Given the description of an element on the screen output the (x, y) to click on. 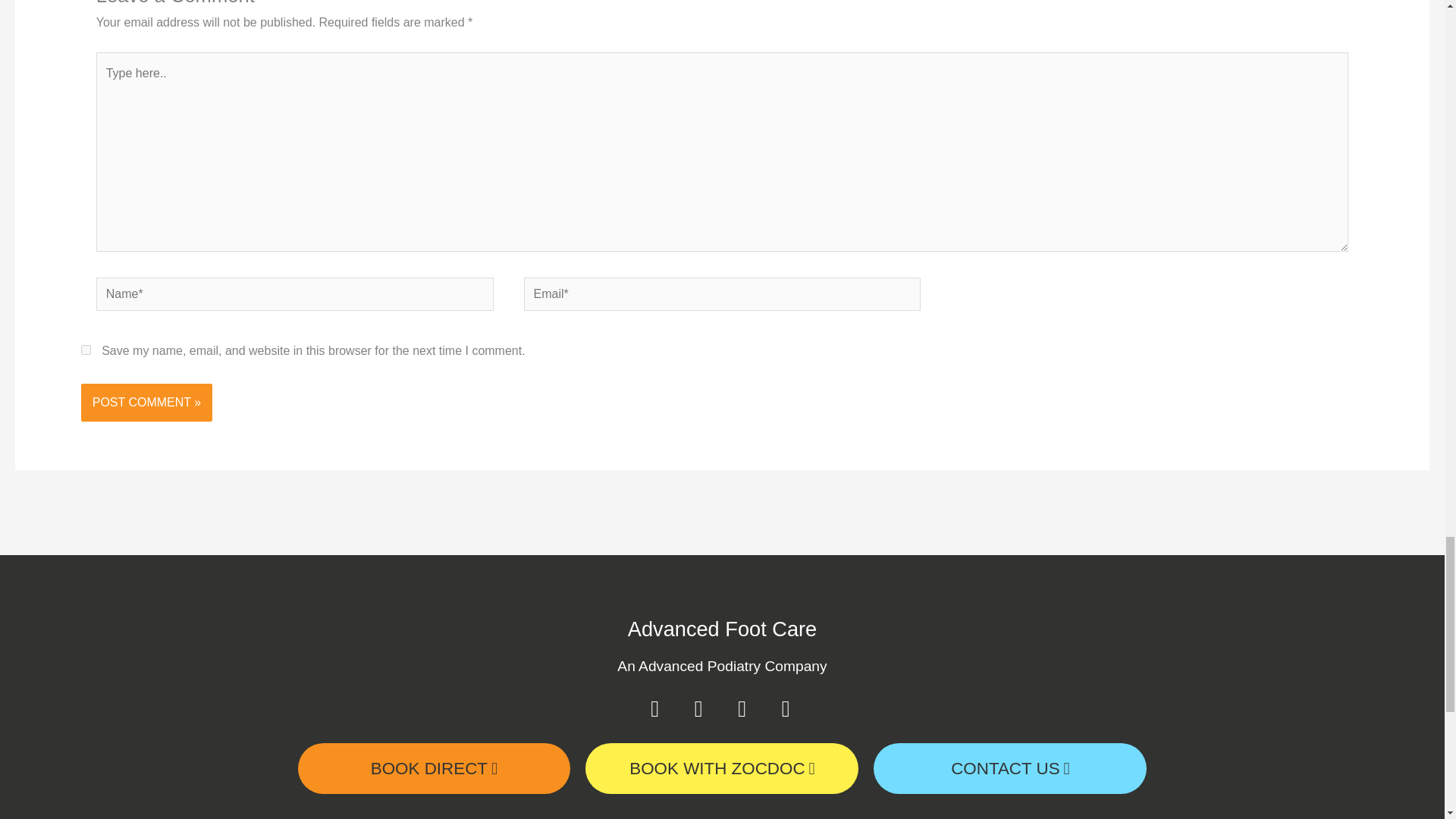
yes (85, 349)
